Given the description of an element on the screen output the (x, y) to click on. 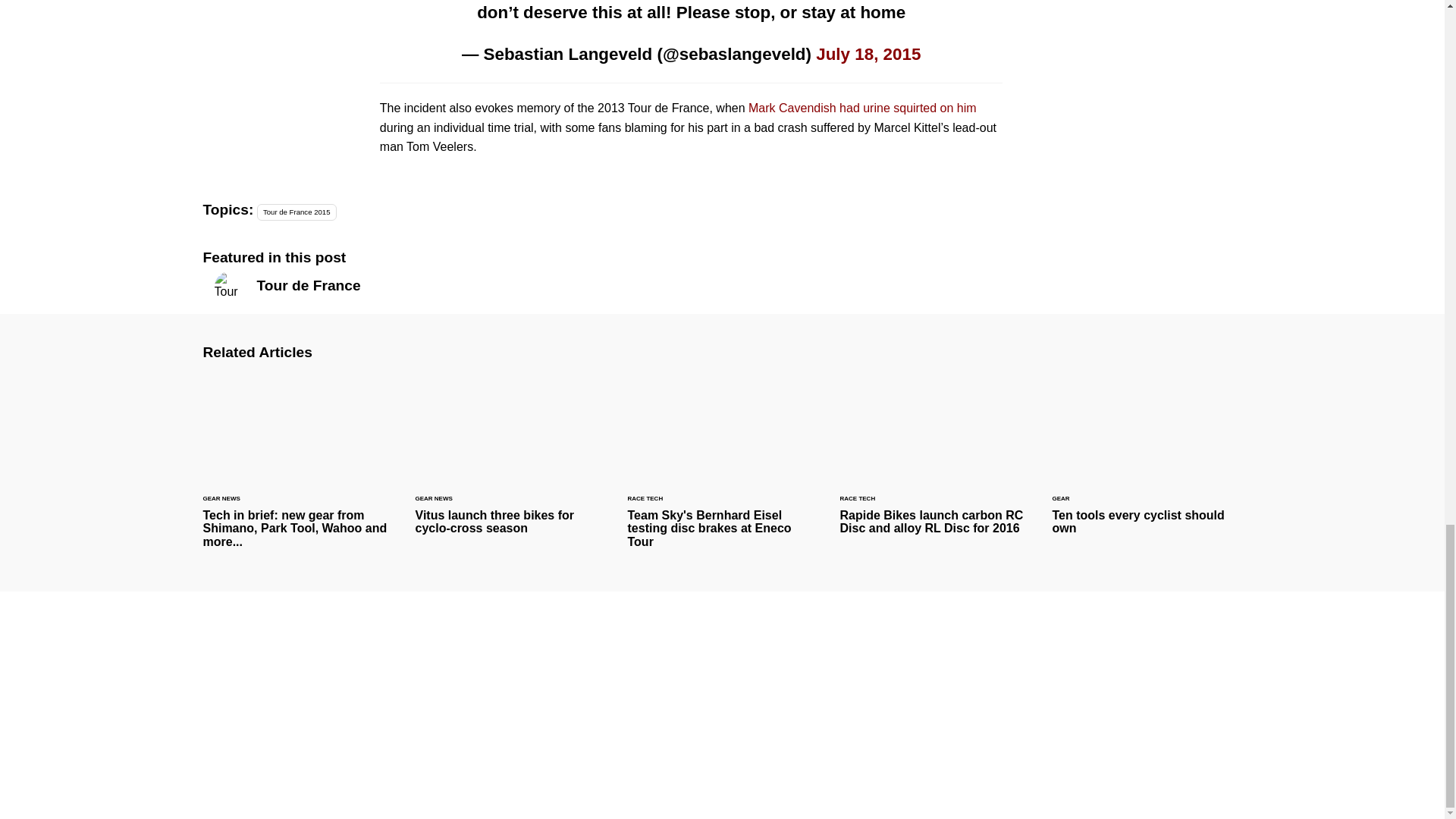
Tour de France (332, 285)
